Given the description of an element on the screen output the (x, y) to click on. 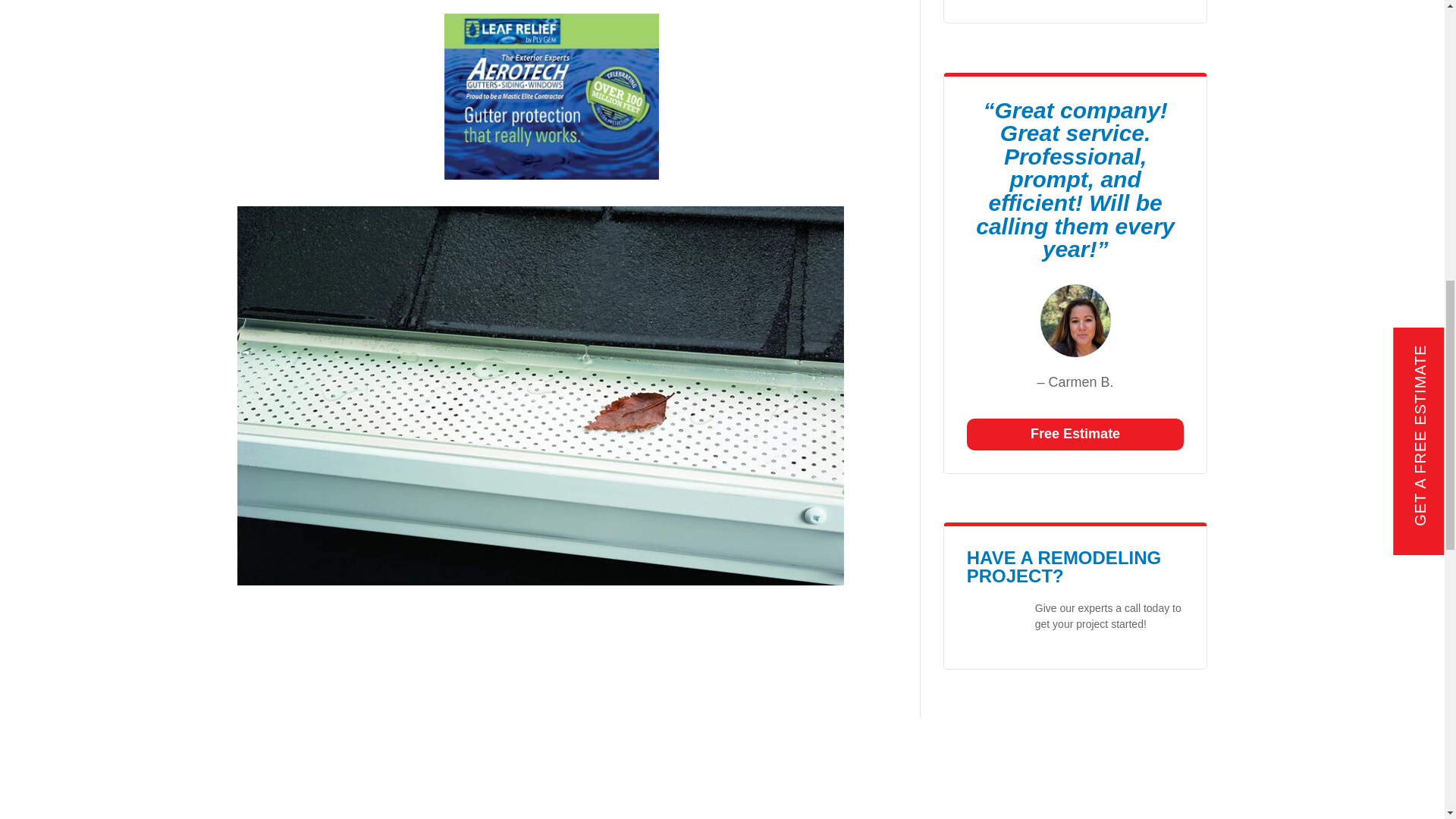
 - Aerotech Gutter Service (1075, 320)
 - Aerotech Gutter Service (551, 96)
 - Aerotech Gutter Service (994, 623)
Free Estimate (1075, 433)
